Given the description of an element on the screen output the (x, y) to click on. 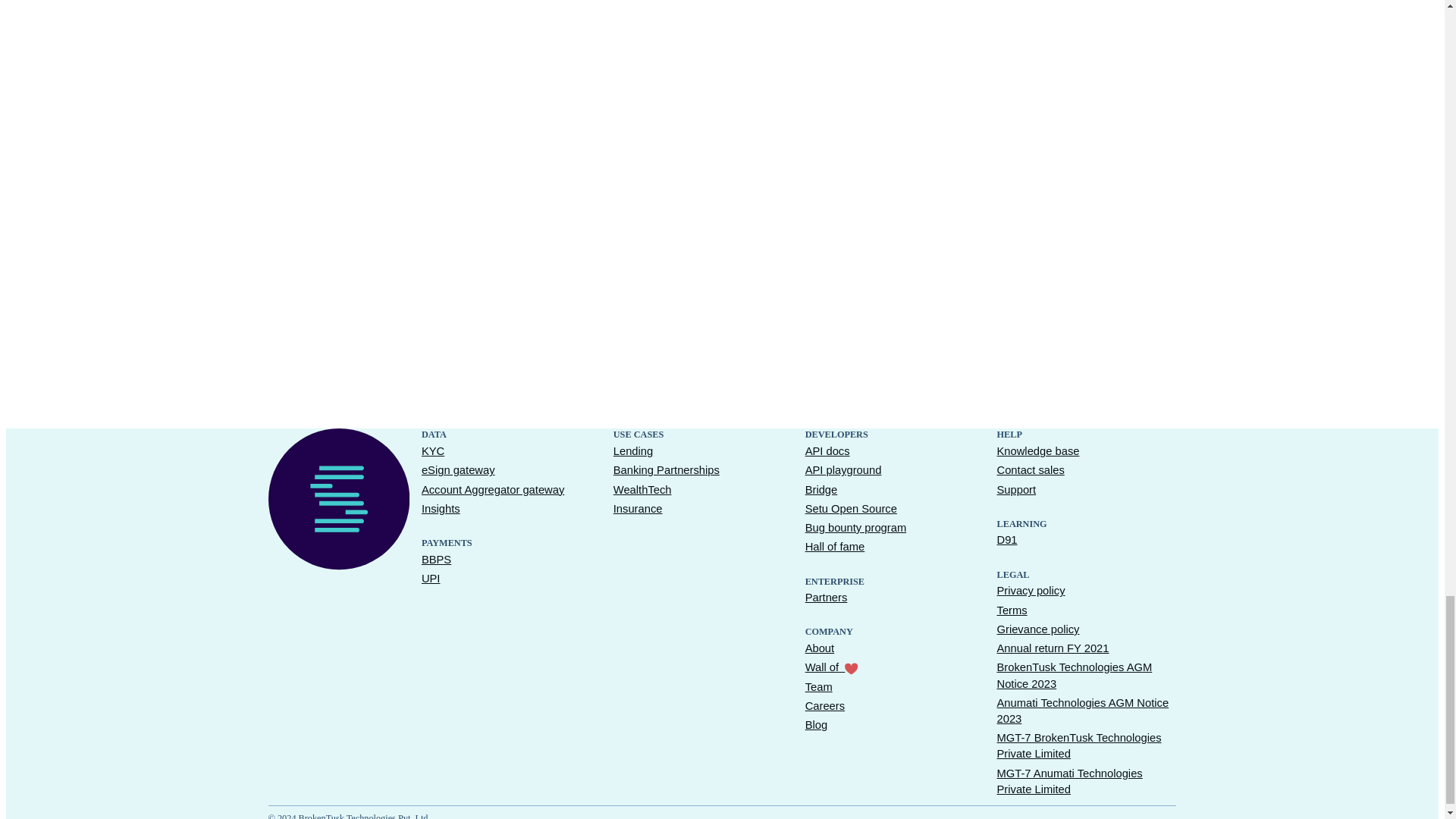
KYC (433, 451)
eSign gateway (458, 470)
